Given the description of an element on the screen output the (x, y) to click on. 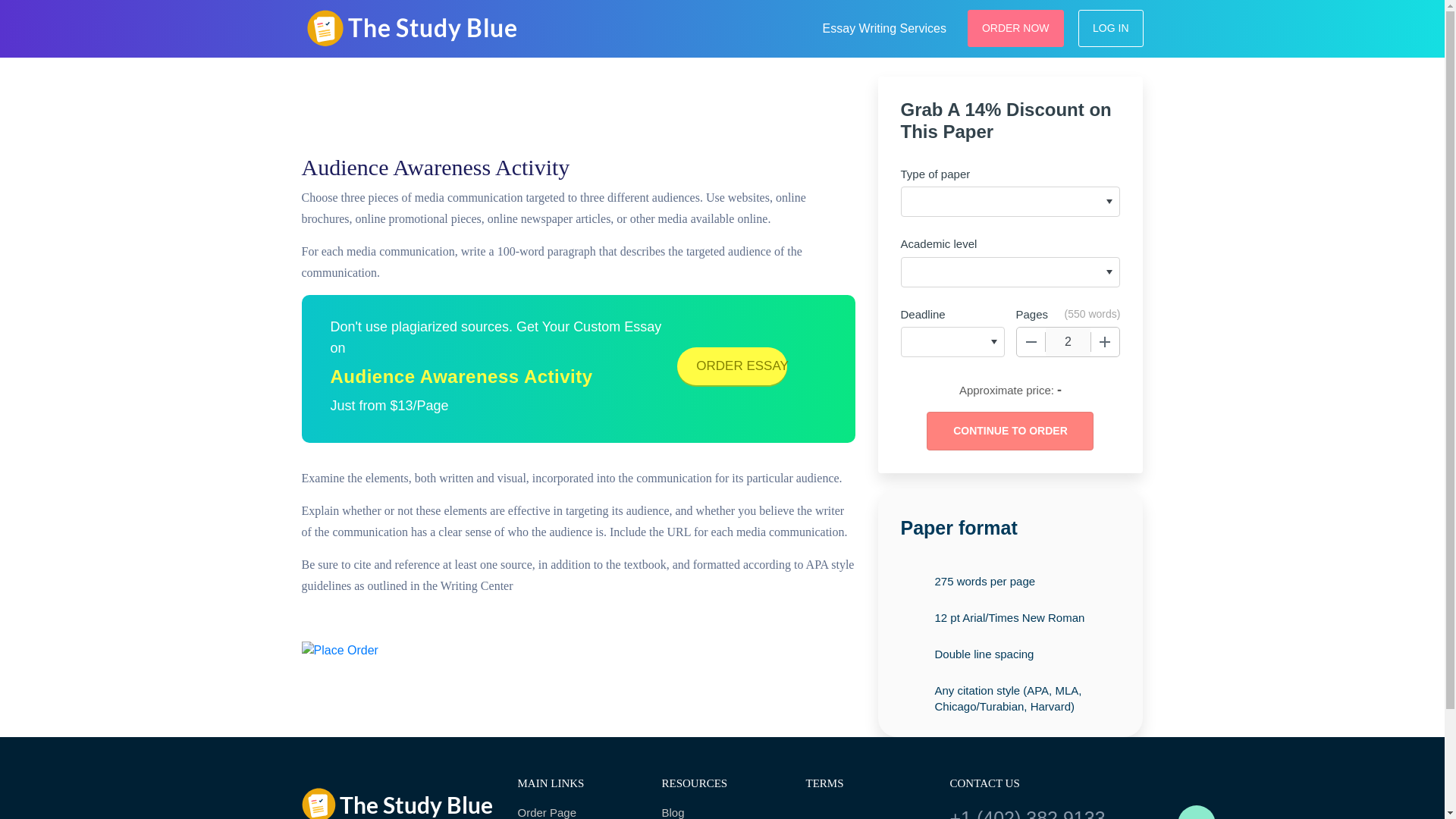
Blog (722, 811)
Place Order (339, 650)
2 (1067, 341)
ORDER NOW (1016, 27)
Essay Writing Services (884, 26)
Continue to order (1009, 430)
LOG IN (1110, 27)
Order Page (577, 811)
Decrease (1030, 341)
Essay Writing Services (884, 26)
Continue to order (1009, 430)
Increase (1104, 341)
ORDER ESSAY (732, 365)
Order Page (577, 811)
Blog (722, 811)
